Given the description of an element on the screen output the (x, y) to click on. 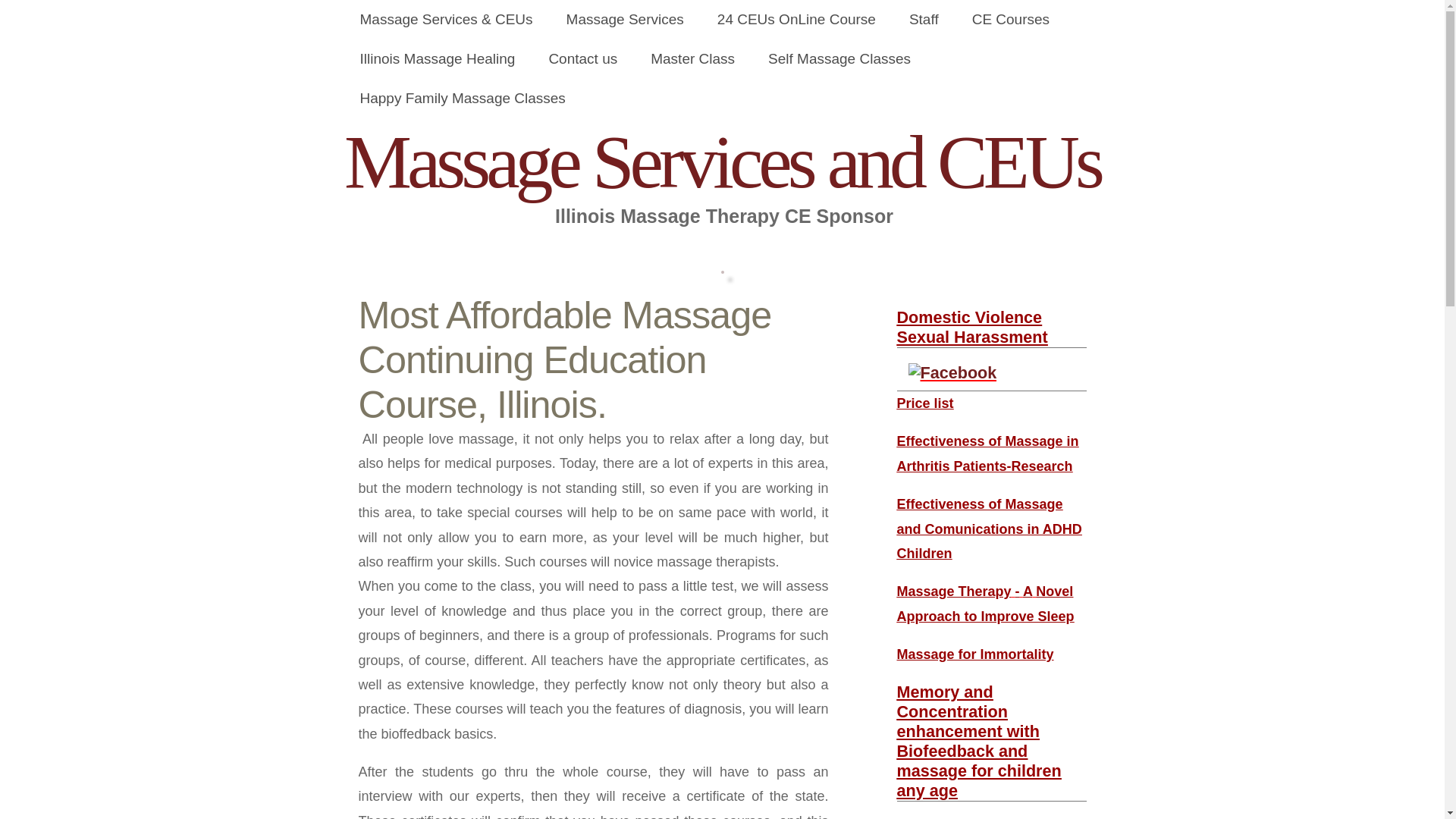
Price list (924, 403)
Contact us (582, 58)
Domestic Violence Sexual Harassment (971, 326)
Master Class (692, 58)
Staff (923, 19)
CE Courses (1010, 19)
Children with ADHD and MAssage (988, 528)
Illinois Massage Healing (436, 58)
Self Massage Classes (839, 58)
Massage and Sleep Therapy (985, 603)
